Given the description of an element on the screen output the (x, y) to click on. 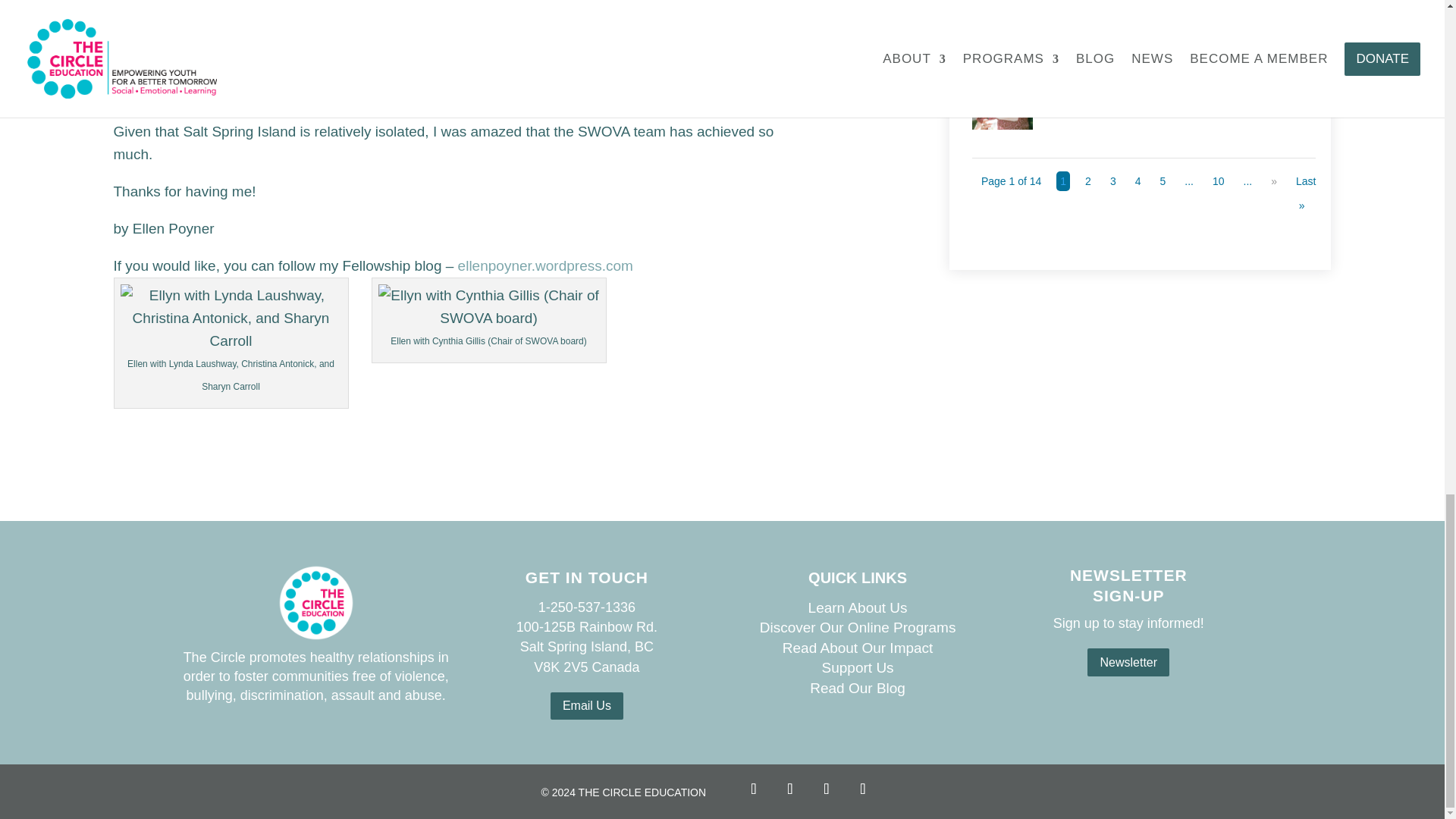
Follow on Facebook (753, 788)
Page 3 (1112, 180)
Email Us (586, 706)
Follow on Instagram (789, 788)
Page 4 (1137, 180)
Follow on Vimeo (862, 788)
Page 5 (1162, 180)
Page 2 (1087, 180)
Page 10 (1218, 180)
Follow on LinkedIn (825, 788)
The-Circle-Education-Logo (315, 602)
ellenpoyner.wordpress.com (545, 265)
